Given the description of an element on the screen output the (x, y) to click on. 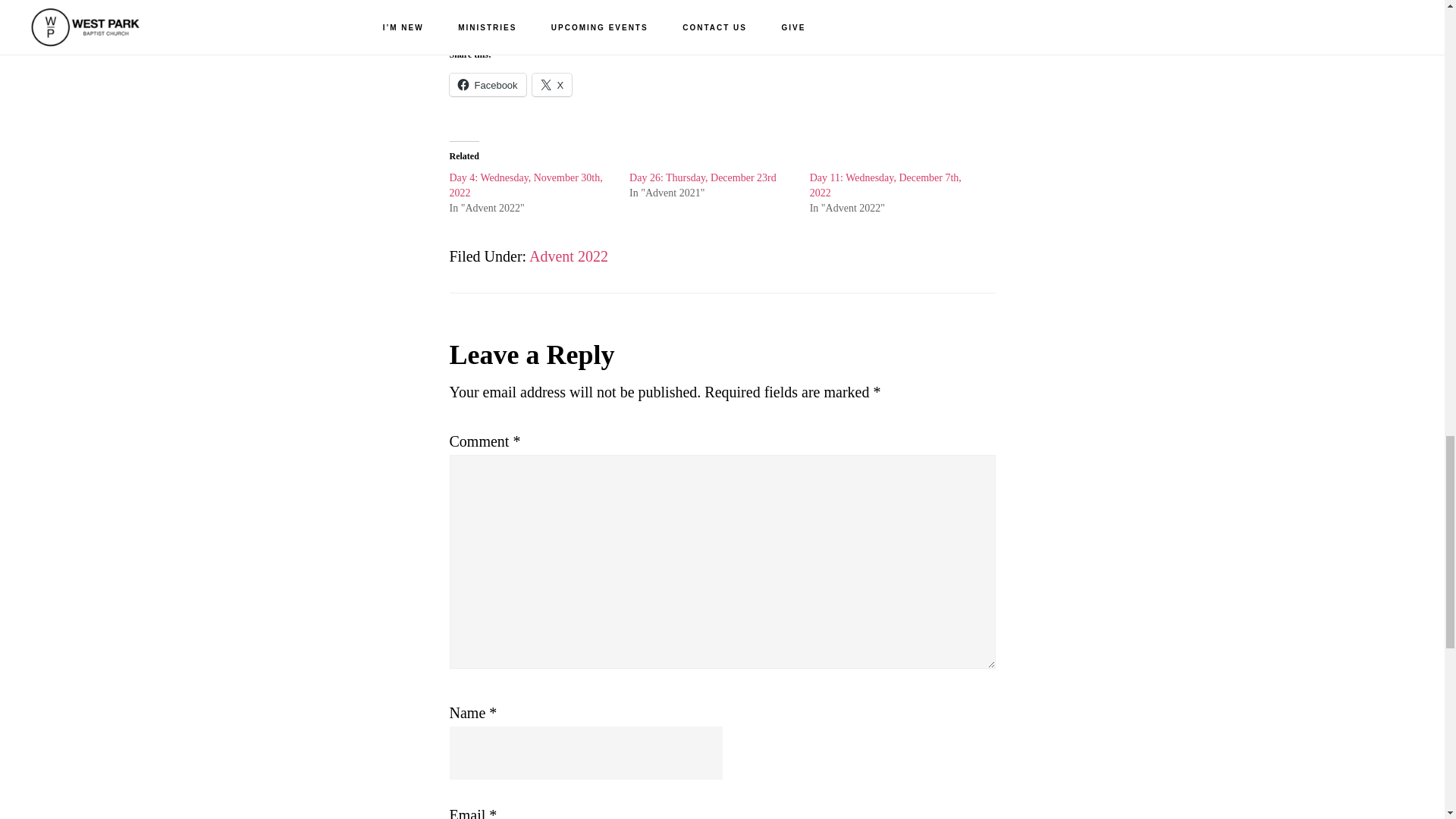
Advent 2022 (568, 256)
Click to share on Facebook (486, 84)
X (552, 84)
Day 4: Wednesday, November 30th, 2022 (525, 185)
Day 11: Wednesday, December 7th, 2022 (884, 185)
Day 4: Wednesday, November 30th, 2022 (525, 185)
Day 11: Wednesday, December 7th, 2022 (884, 185)
Click to share on X (552, 84)
Day 26: Thursday, December 23rd (702, 177)
Facebook (486, 84)
Day 26: Thursday, December 23rd (702, 177)
